Given the description of an element on the screen output the (x, y) to click on. 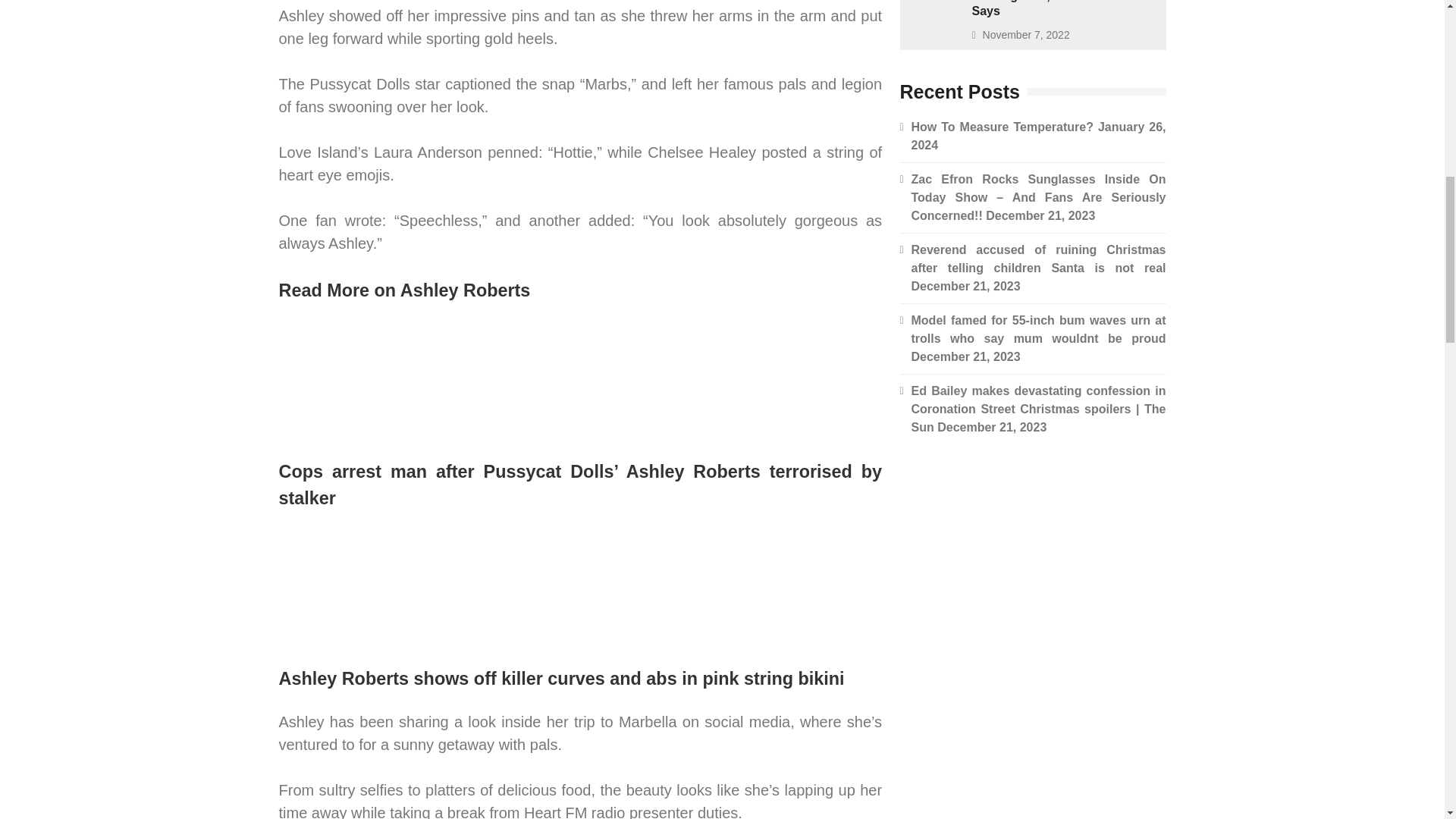
November 7, 2022 (1026, 34)
How To Measure Temperature? (1002, 126)
